Given the description of an element on the screen output the (x, y) to click on. 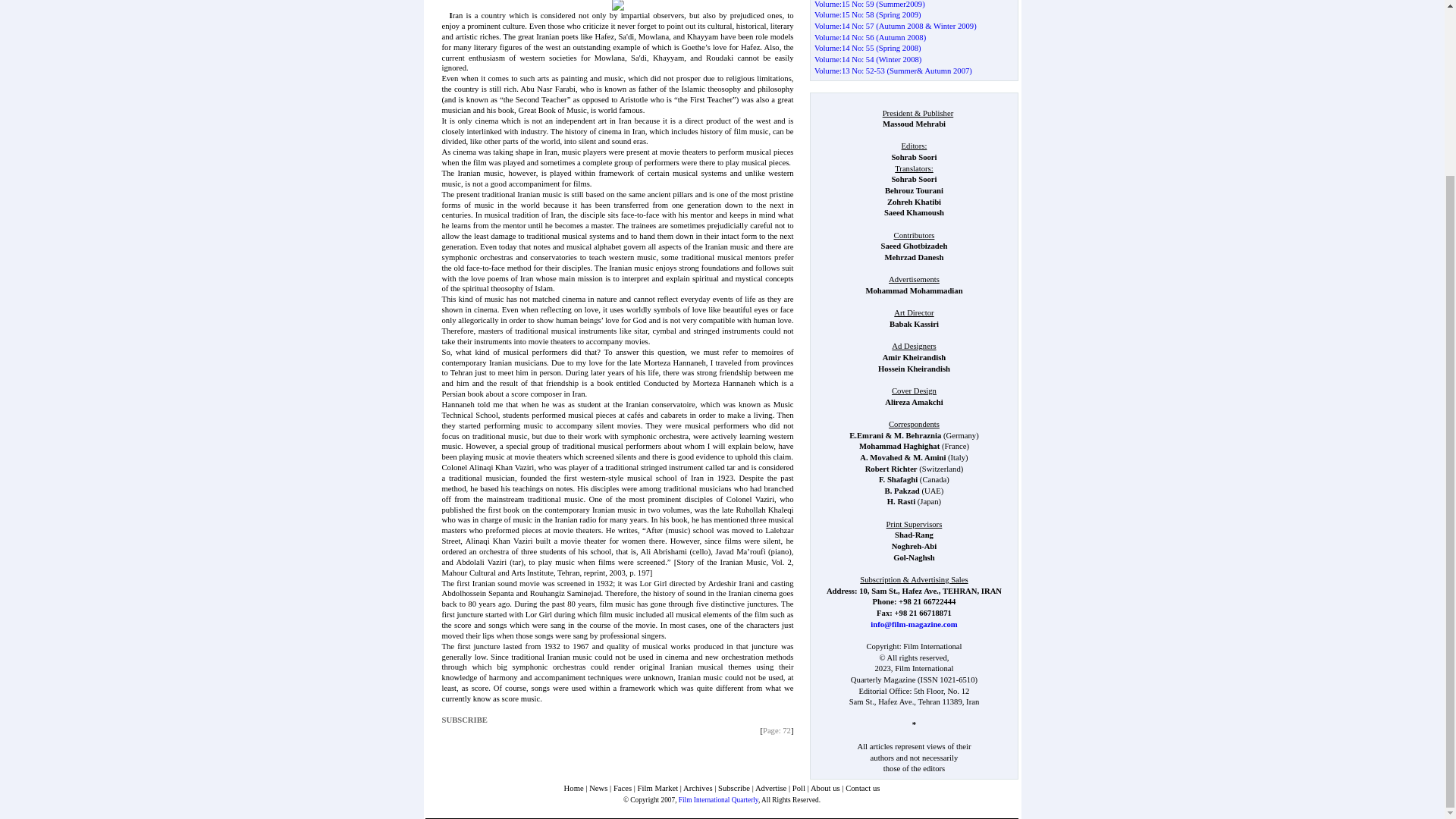
Film International Quarterly (718, 799)
Archives (696, 787)
News (598, 787)
Subscribe (733, 787)
Advertise (770, 787)
Contact us (862, 787)
Poll (798, 787)
Faces (621, 787)
SUBSCRIBE (464, 719)
About us (825, 787)
Film Market (657, 787)
Home (573, 787)
